Given the description of an element on the screen output the (x, y) to click on. 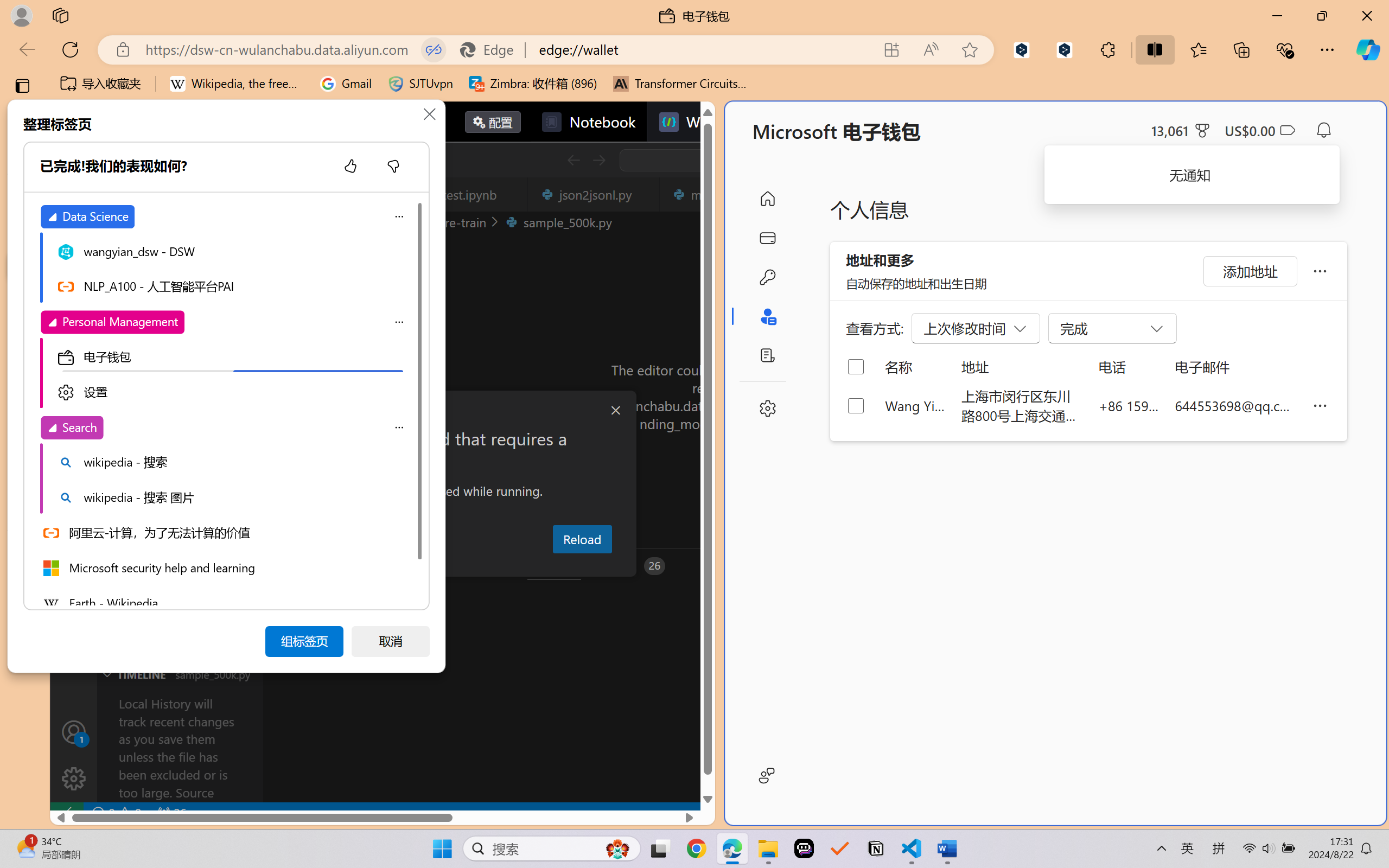
+86 159 0032 4640 (1128, 405)
Class: actions-container (717, 159)
wangyian_dsw - DSW (231, 250)
Microsoft security help and learning (223, 567)
Edge (492, 49)
